Given the description of an element on the screen output the (x, y) to click on. 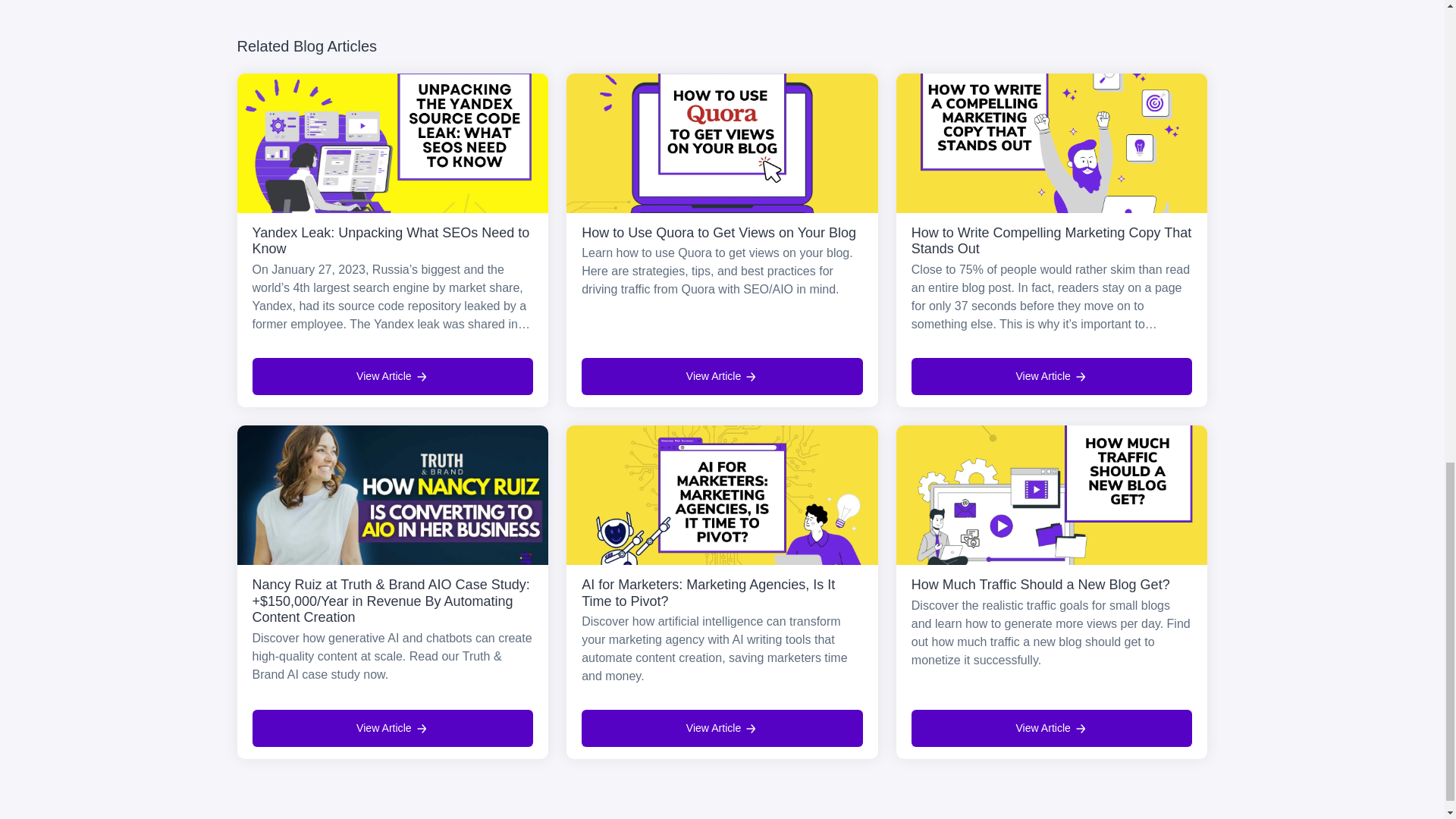
View Article (1051, 728)
View Article (1051, 375)
View Article (391, 728)
View Article (391, 375)
View Article (721, 728)
View Article (721, 375)
